Given the description of an element on the screen output the (x, y) to click on. 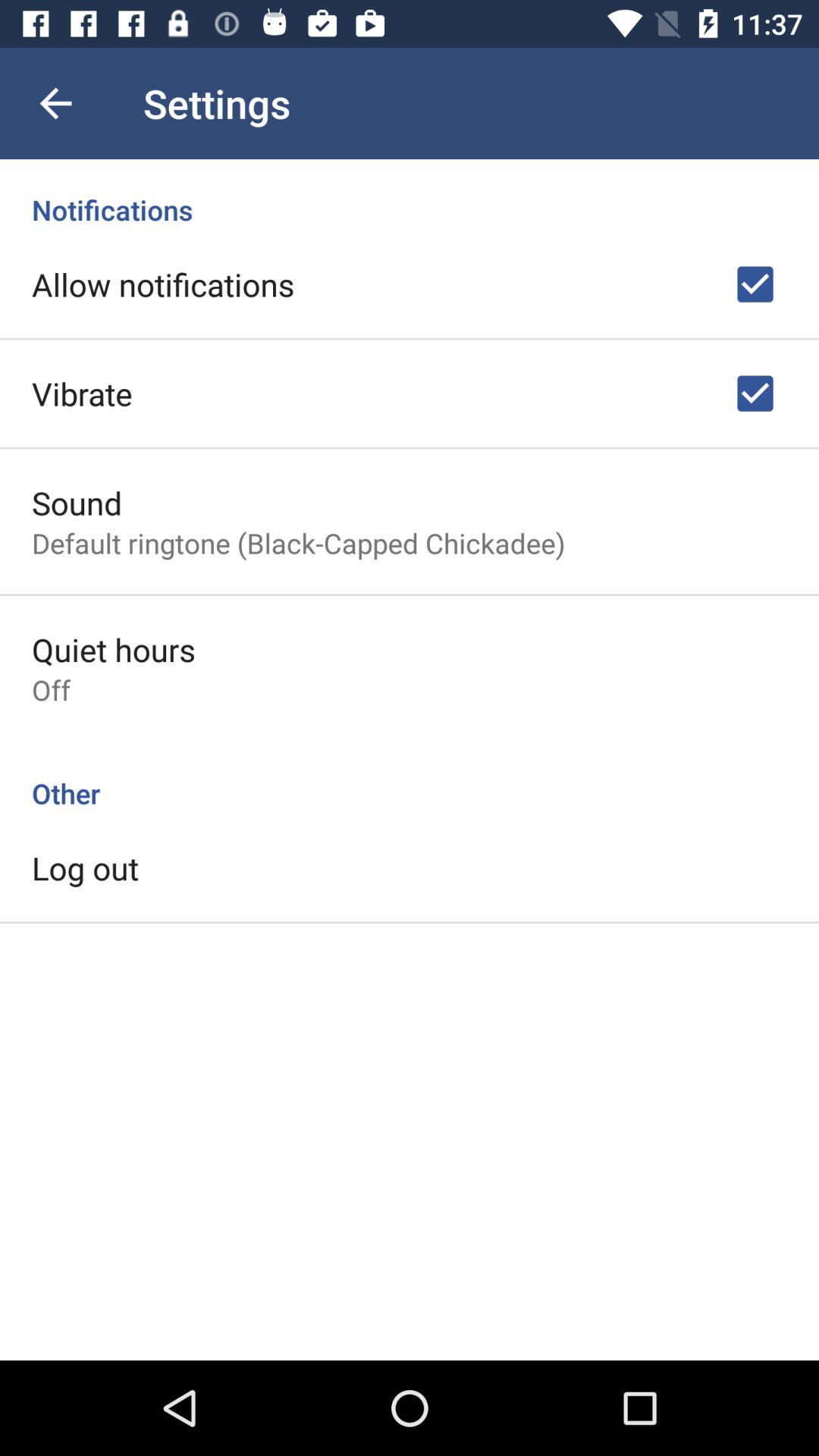
jump until the off (50, 689)
